Given the description of an element on the screen output the (x, y) to click on. 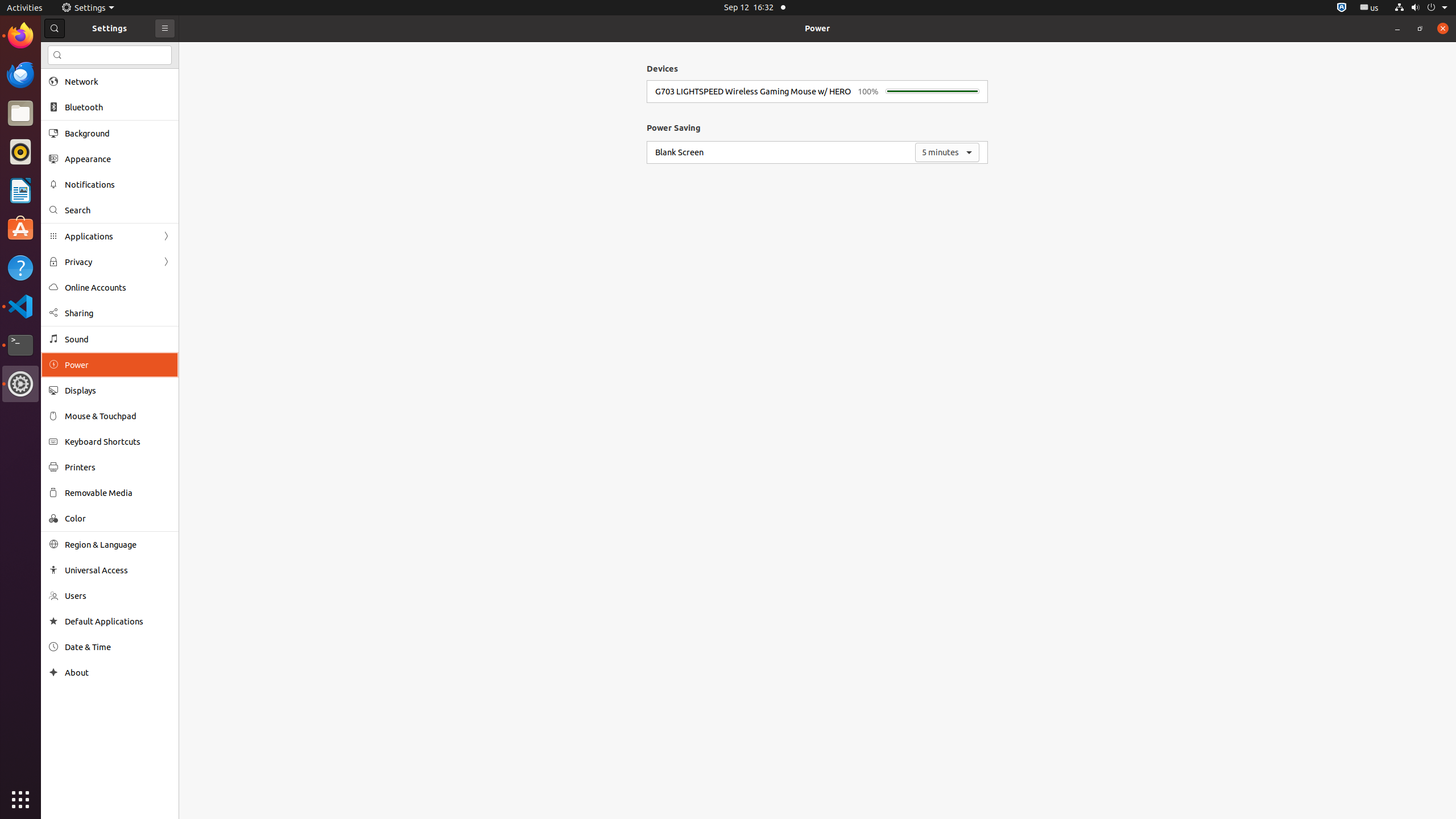
Forward Element type: icon (165, 261)
Removable Media Element type: label (117, 492)
Sharing Element type: label (117, 312)
